Given the description of an element on the screen output the (x, y) to click on. 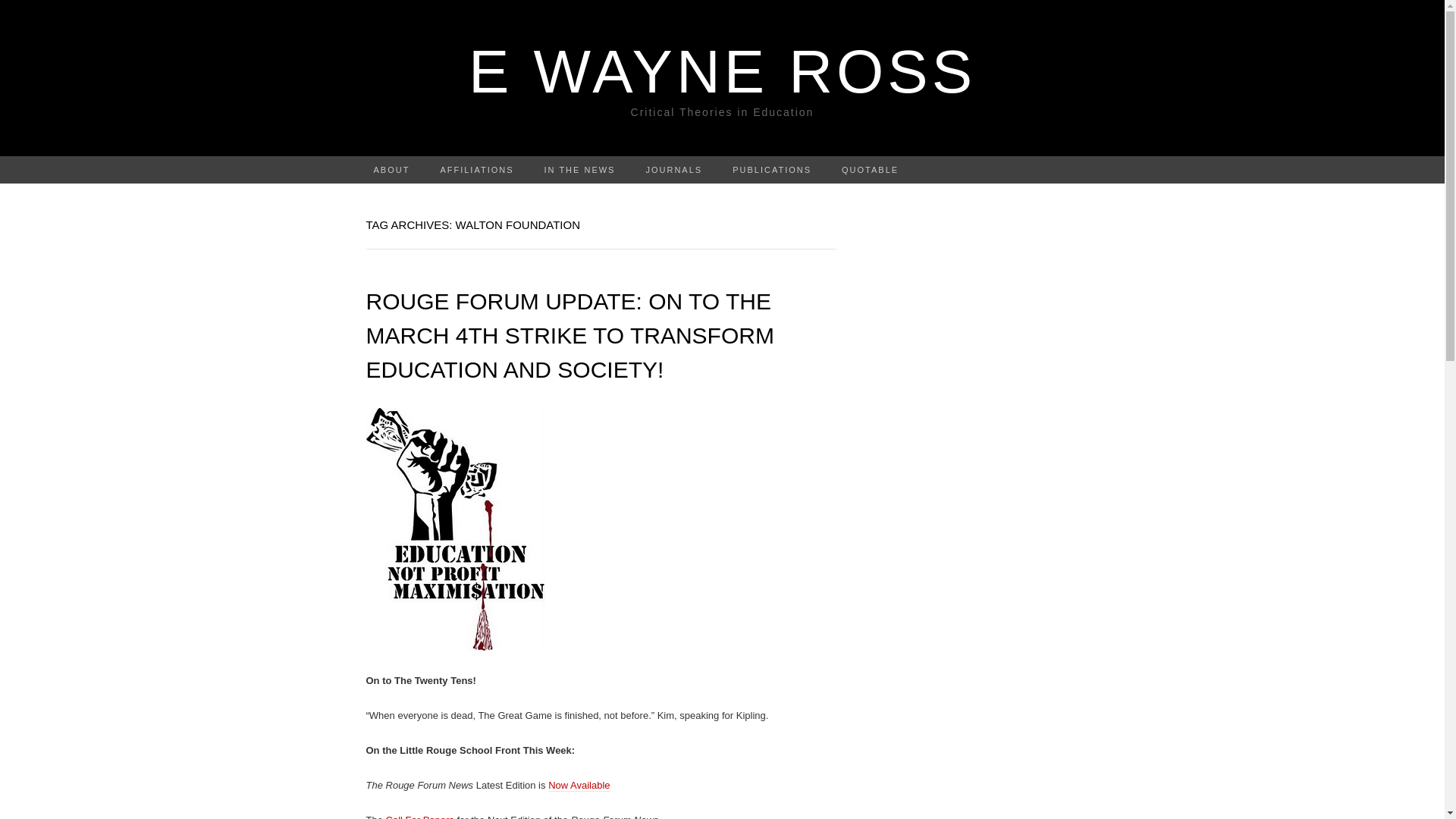
AFFILIATIONS (476, 169)
Call For Papers (419, 816)
Search (16, 12)
PUBLICATIONS (772, 169)
E Wayne Ross (721, 71)
JOURNALS (673, 169)
IN THE NEWS (579, 169)
E WAYNE ROSS (721, 71)
ABOUT (391, 169)
Now Available (579, 785)
QUOTABLE (870, 169)
